Given the description of an element on the screen output the (x, y) to click on. 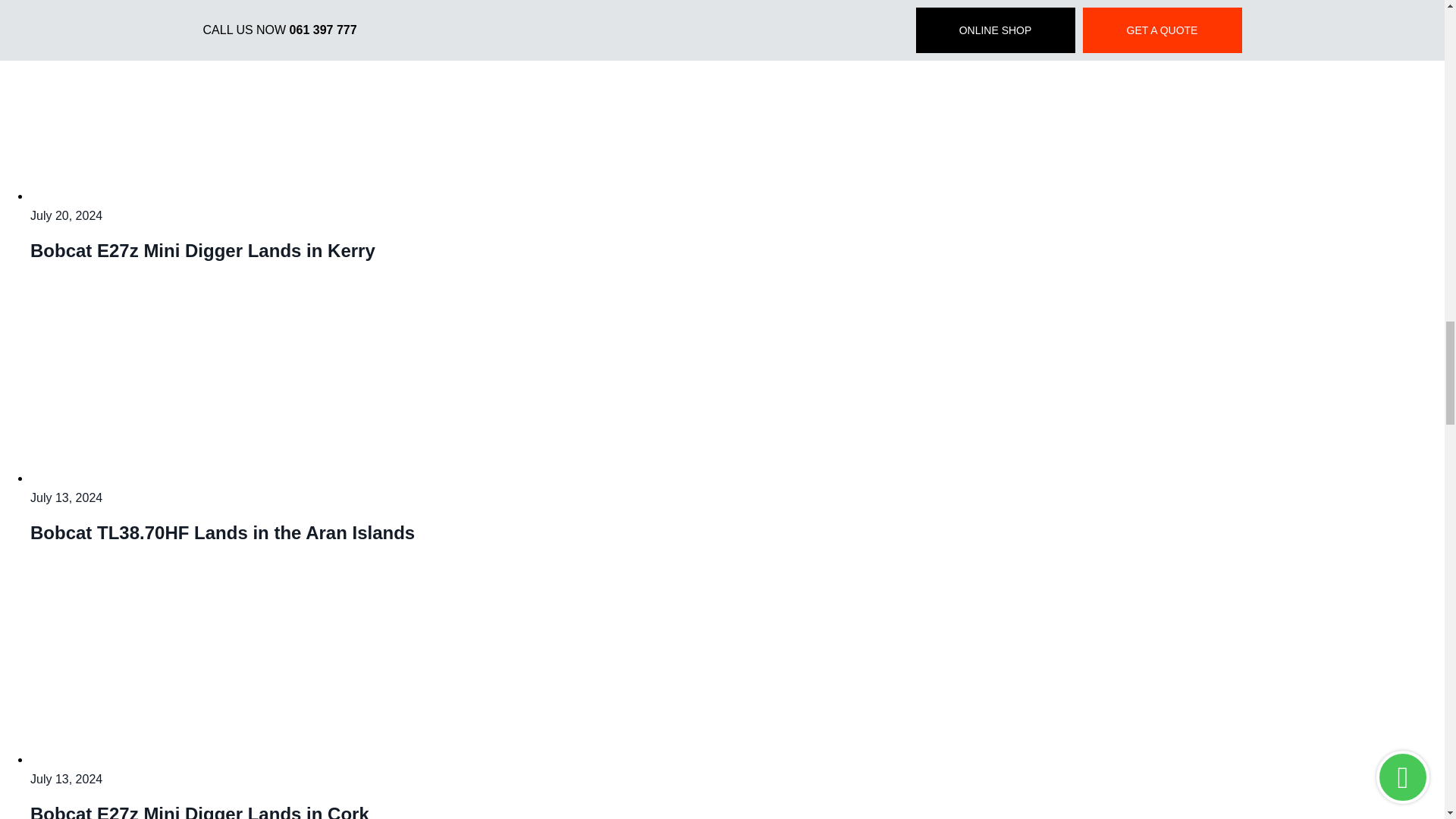
Bobcat E27z Mini Digger Lands in Cork (219, 758)
Bobcat E27z Mini Digger Lands in Kerry (219, 195)
Bobcat TL38.70HF Lands in the Aran Islands (219, 477)
